Given the description of an element on the screen output the (x, y) to click on. 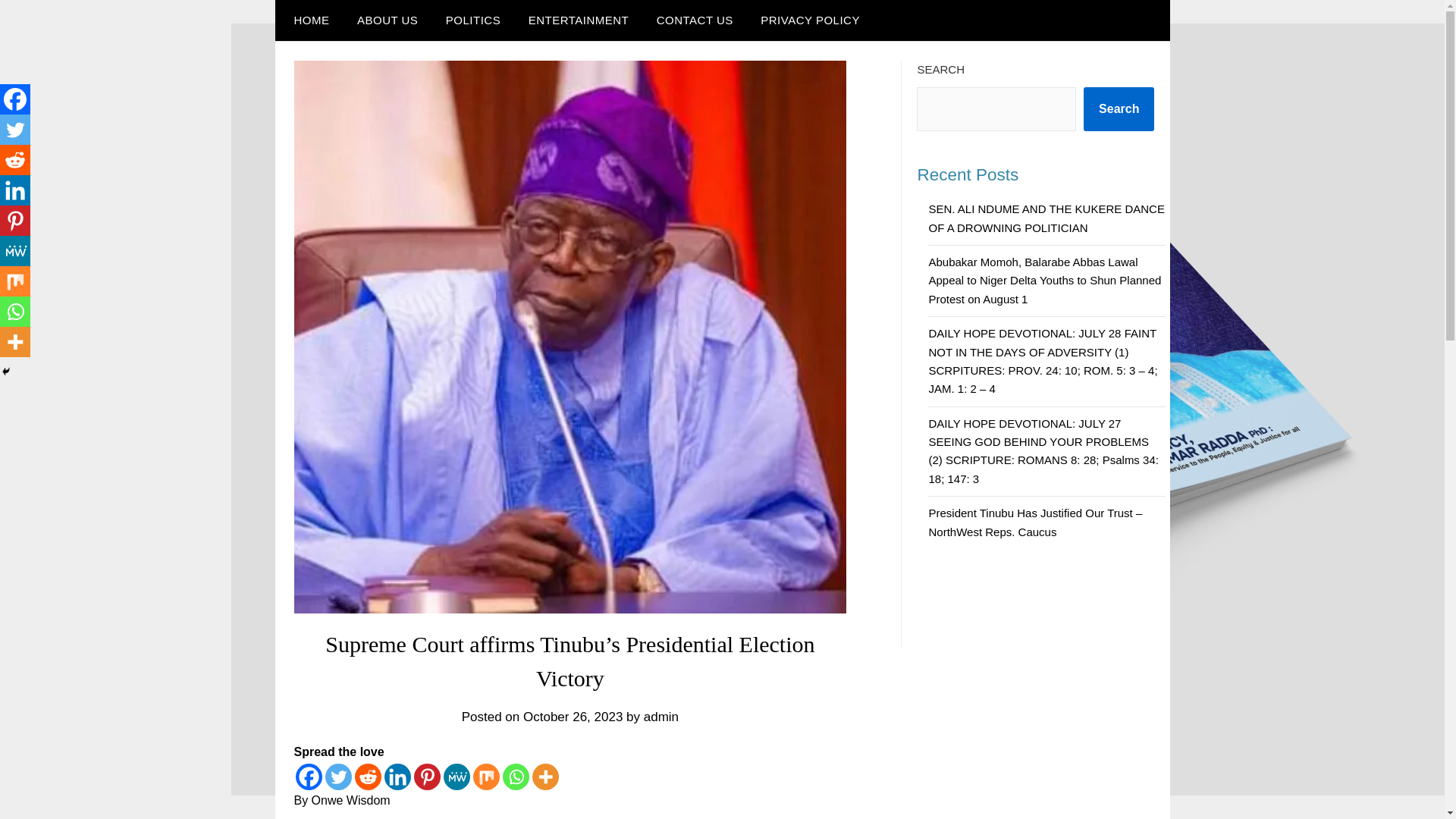
Reddit (368, 776)
HOME (307, 20)
Twitter (337, 776)
More (545, 776)
CONTACT US (695, 20)
Pinterest (427, 776)
admin (660, 716)
ABOUT US (387, 20)
October 26, 2023 (572, 716)
Mix (486, 776)
Search (1118, 108)
POLITICS (472, 20)
PRIVACY POLICY (810, 20)
Facebook (308, 776)
ENTERTAINMENT (579, 20)
